Given the description of an element on the screen output the (x, y) to click on. 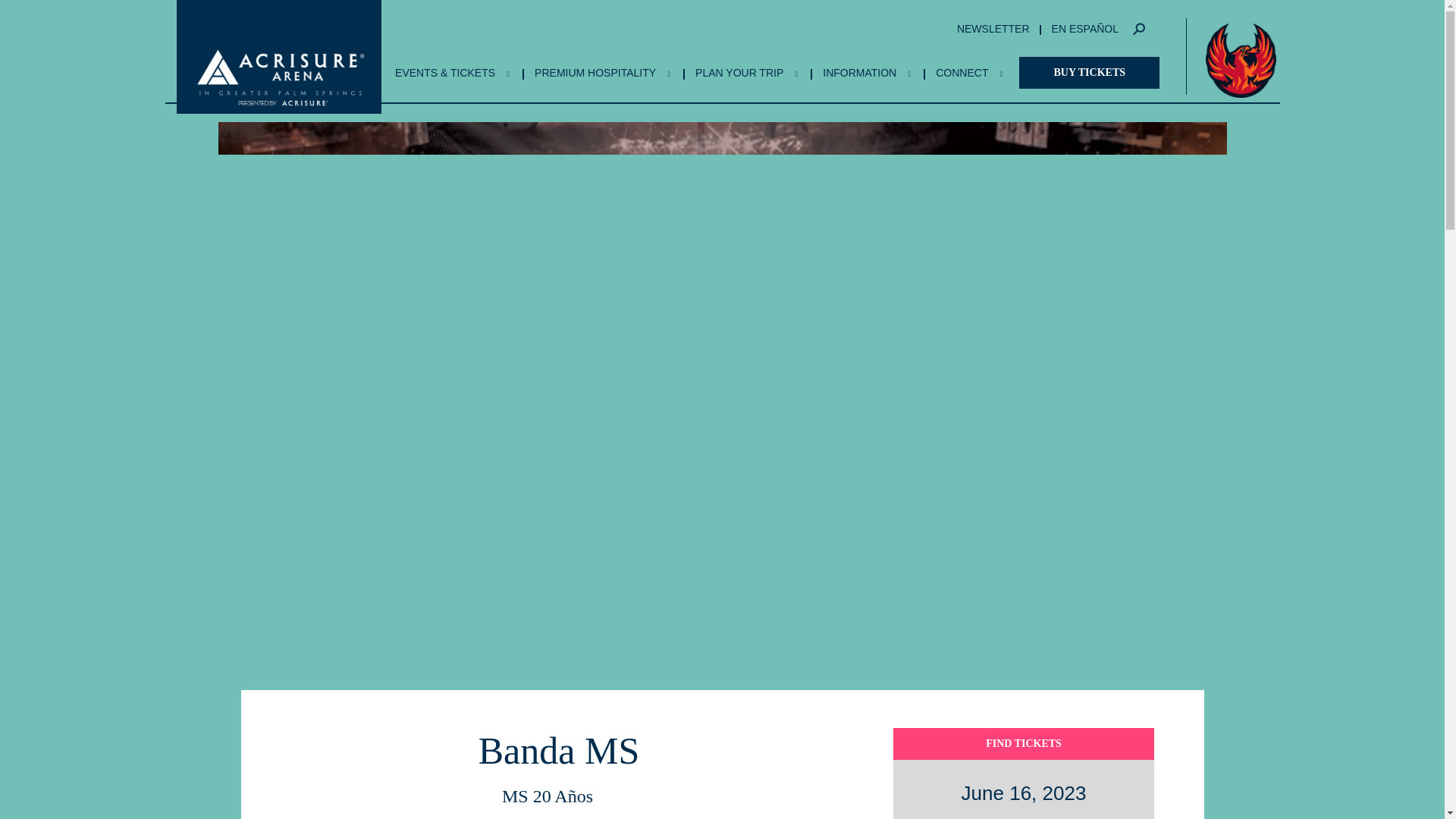
INFORMATION (865, 72)
PLAN YOUR TRIP (746, 72)
BUY TICKETS (1088, 72)
CONNECT (968, 72)
PREMIUM HOSPITALITY (601, 72)
Submit (859, 409)
NEWSLETTER (990, 29)
